Given the description of an element on the screen output the (x, y) to click on. 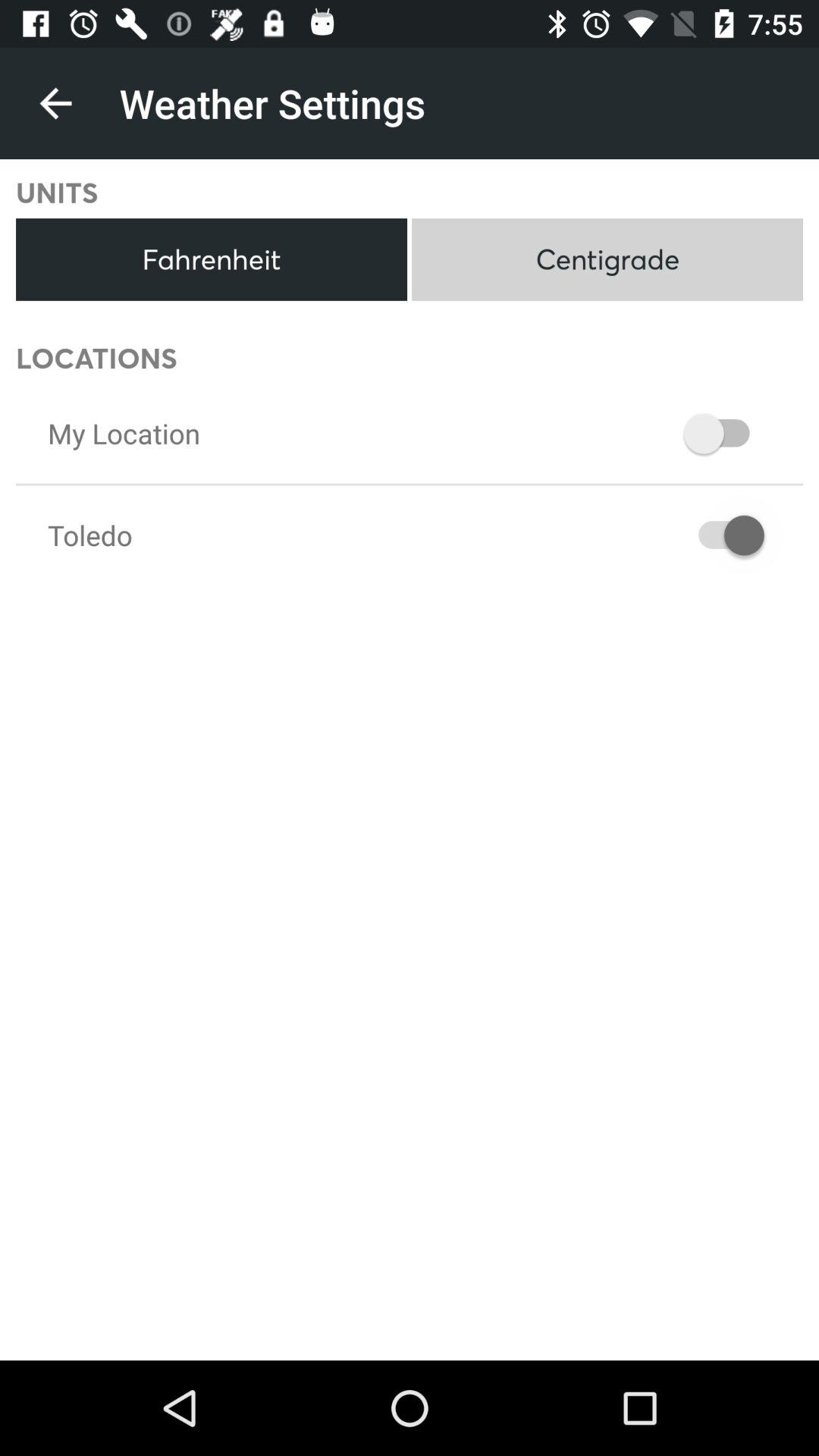
turn off the item below weather settings (607, 259)
